Given the description of an element on the screen output the (x, y) to click on. 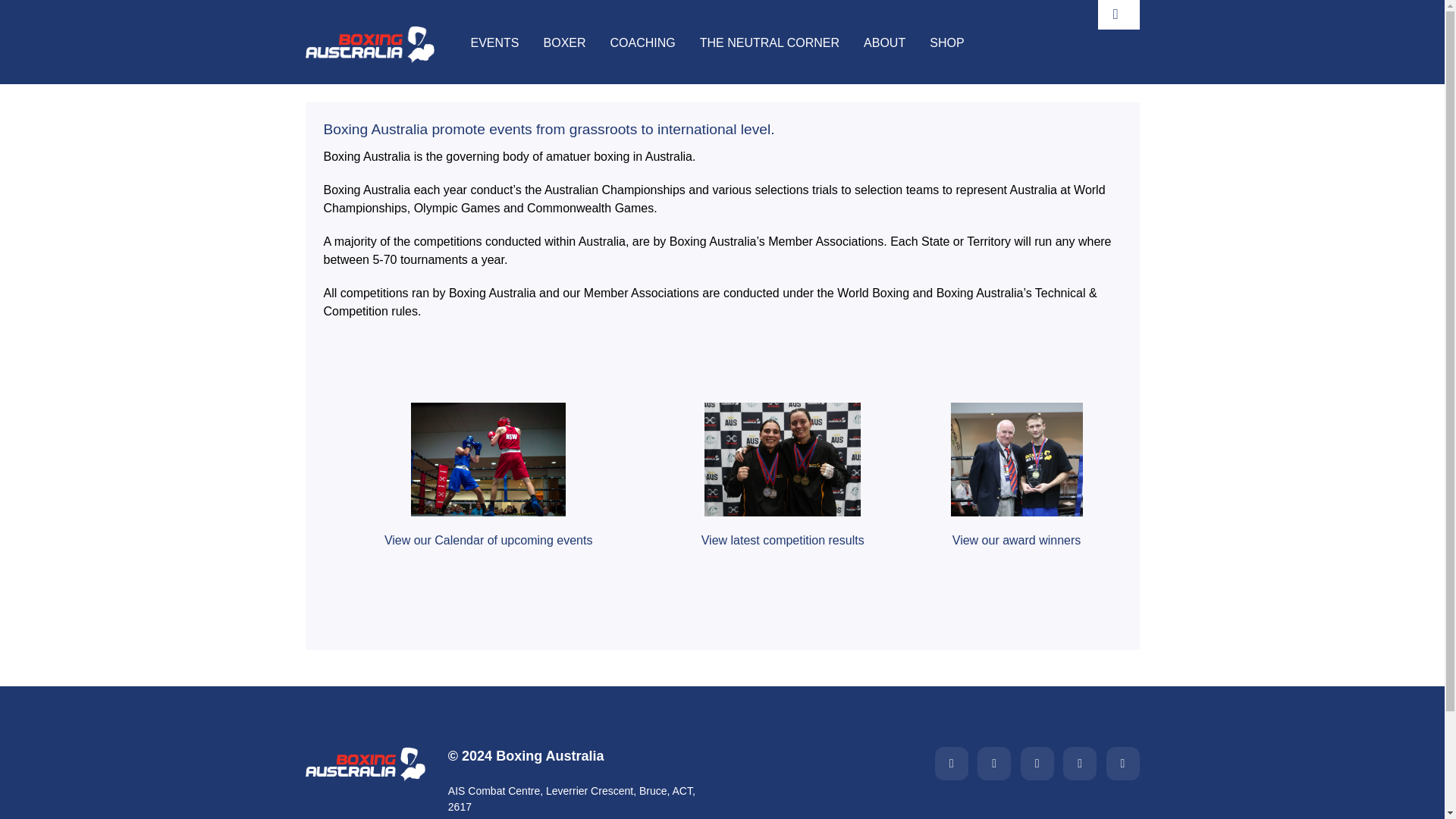
COACHING (642, 43)
ABOUT (884, 43)
THE NEUTRAL CORNER (770, 43)
EVENTS (494, 43)
BOXER (564, 43)
